Given the description of an element on the screen output the (x, y) to click on. 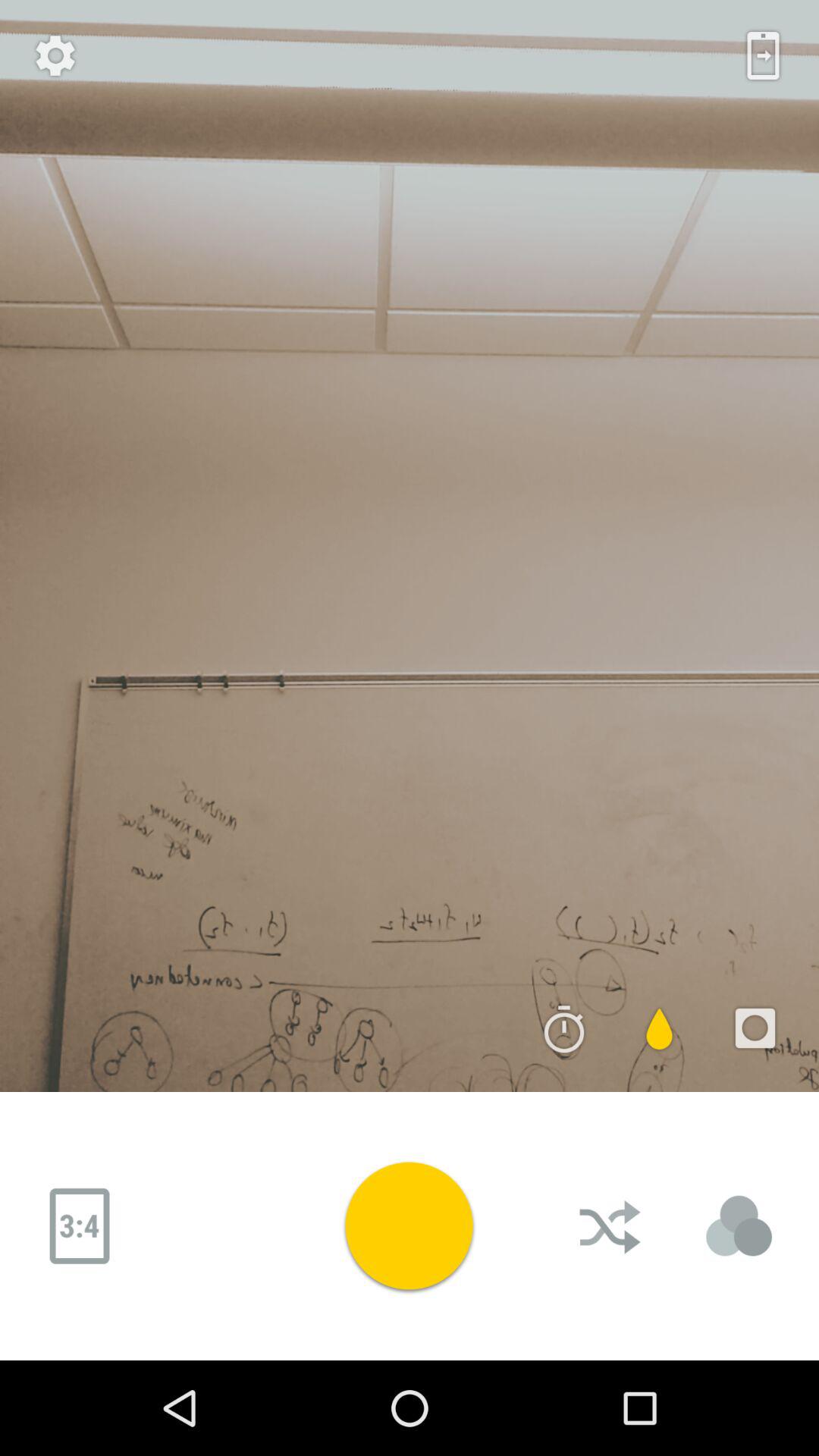
shuffle (611, 1226)
